Given the description of an element on the screen output the (x, y) to click on. 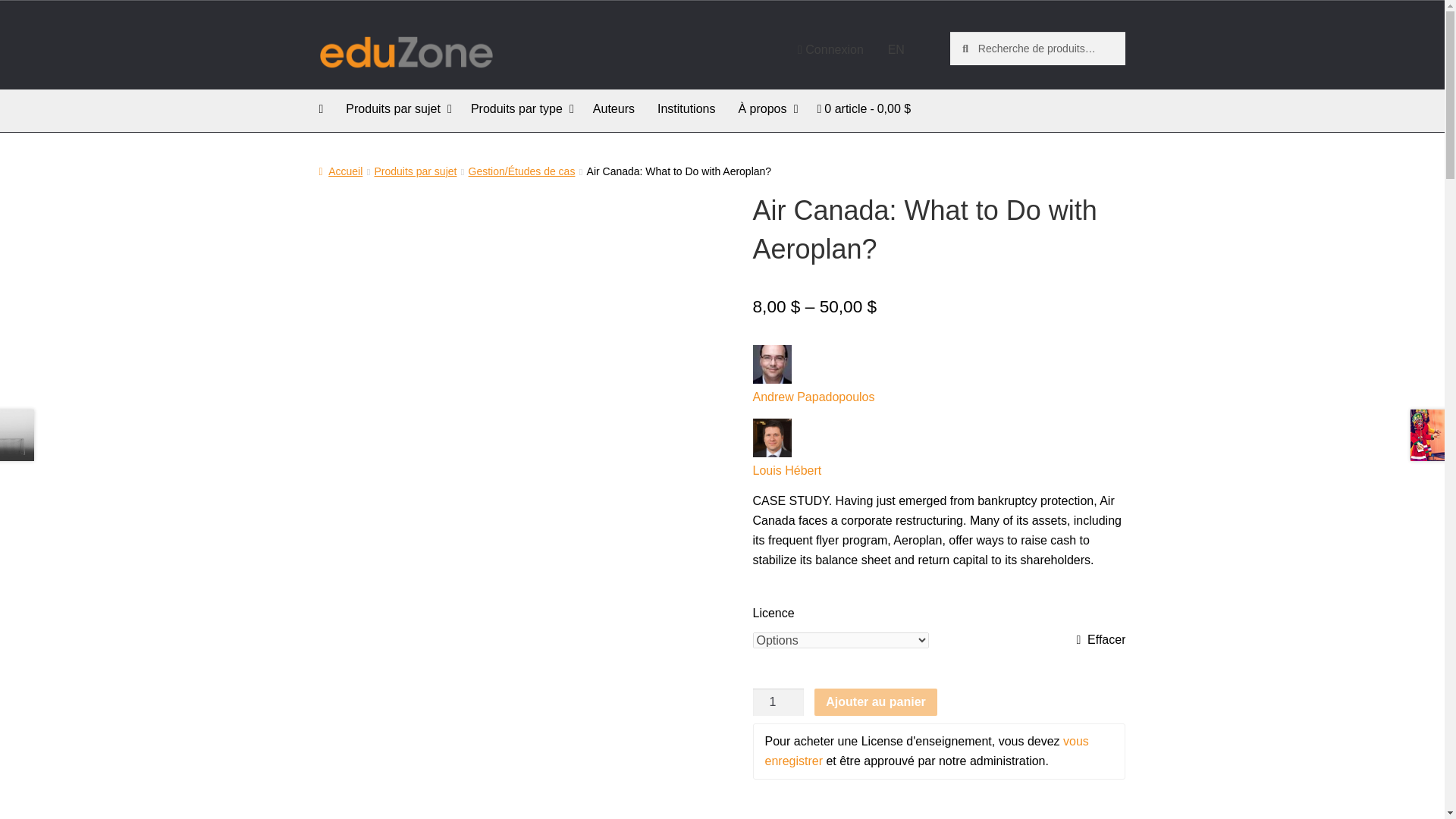
EN (896, 49)
Produits par sujet (397, 109)
1 (777, 701)
Commencez vos achats (867, 108)
Connexion (831, 49)
Articles par Andrew Papadopoulos (938, 397)
EN (896, 49)
